Given the description of an element on the screen output the (x, y) to click on. 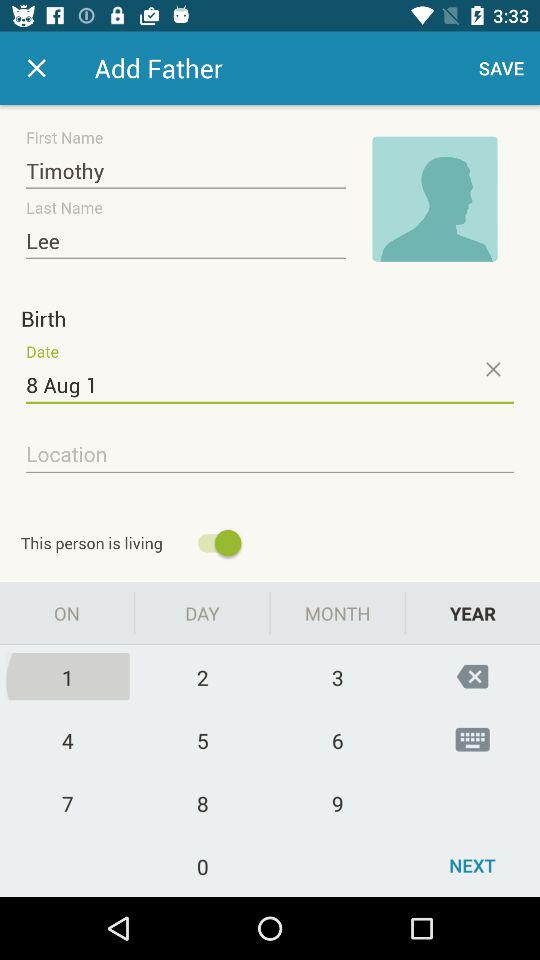
cancel date entry (492, 369)
